Given the description of an element on the screen output the (x, y) to click on. 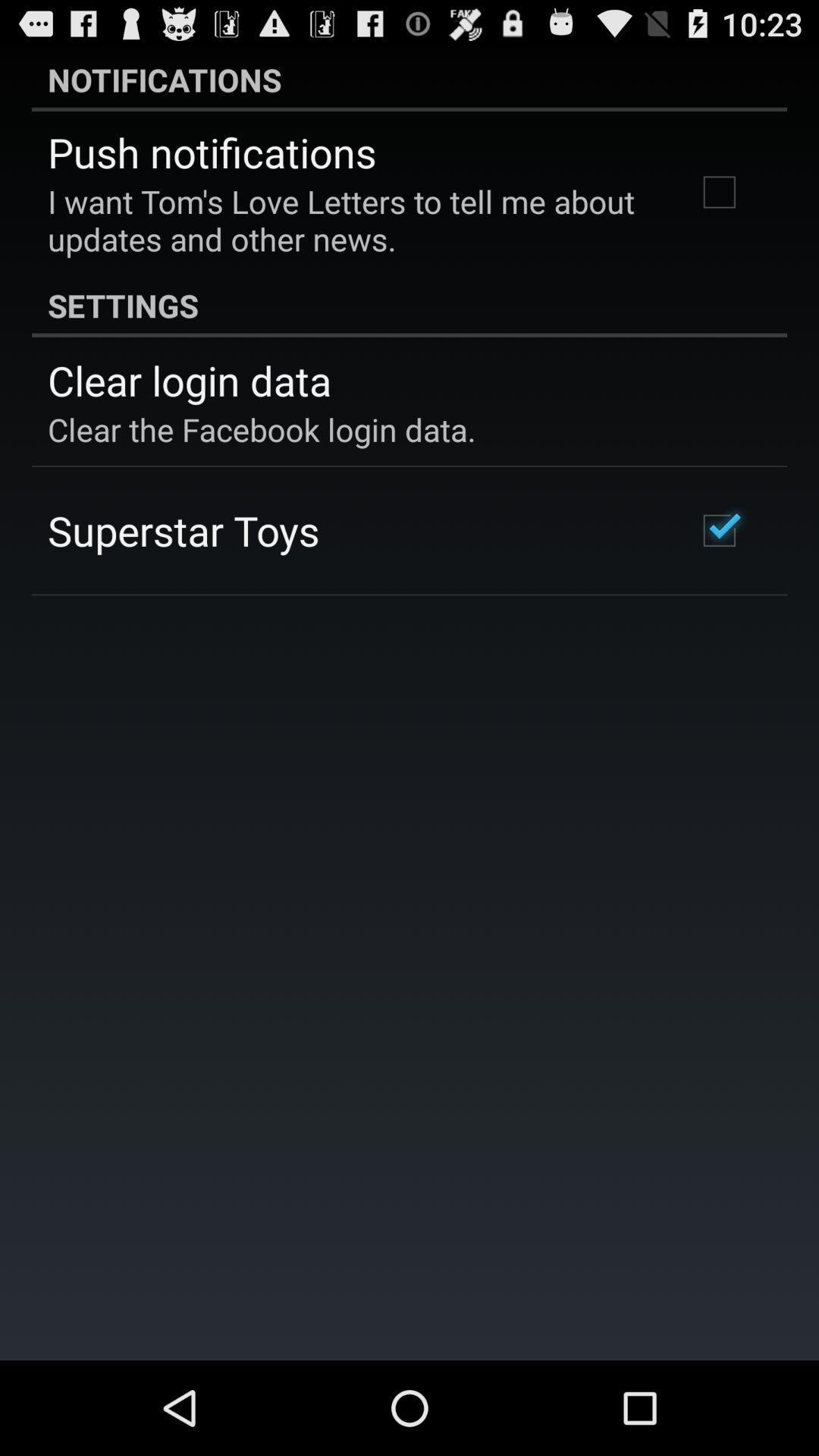
select the icon above the settings app (351, 219)
